Given the description of an element on the screen output the (x, y) to click on. 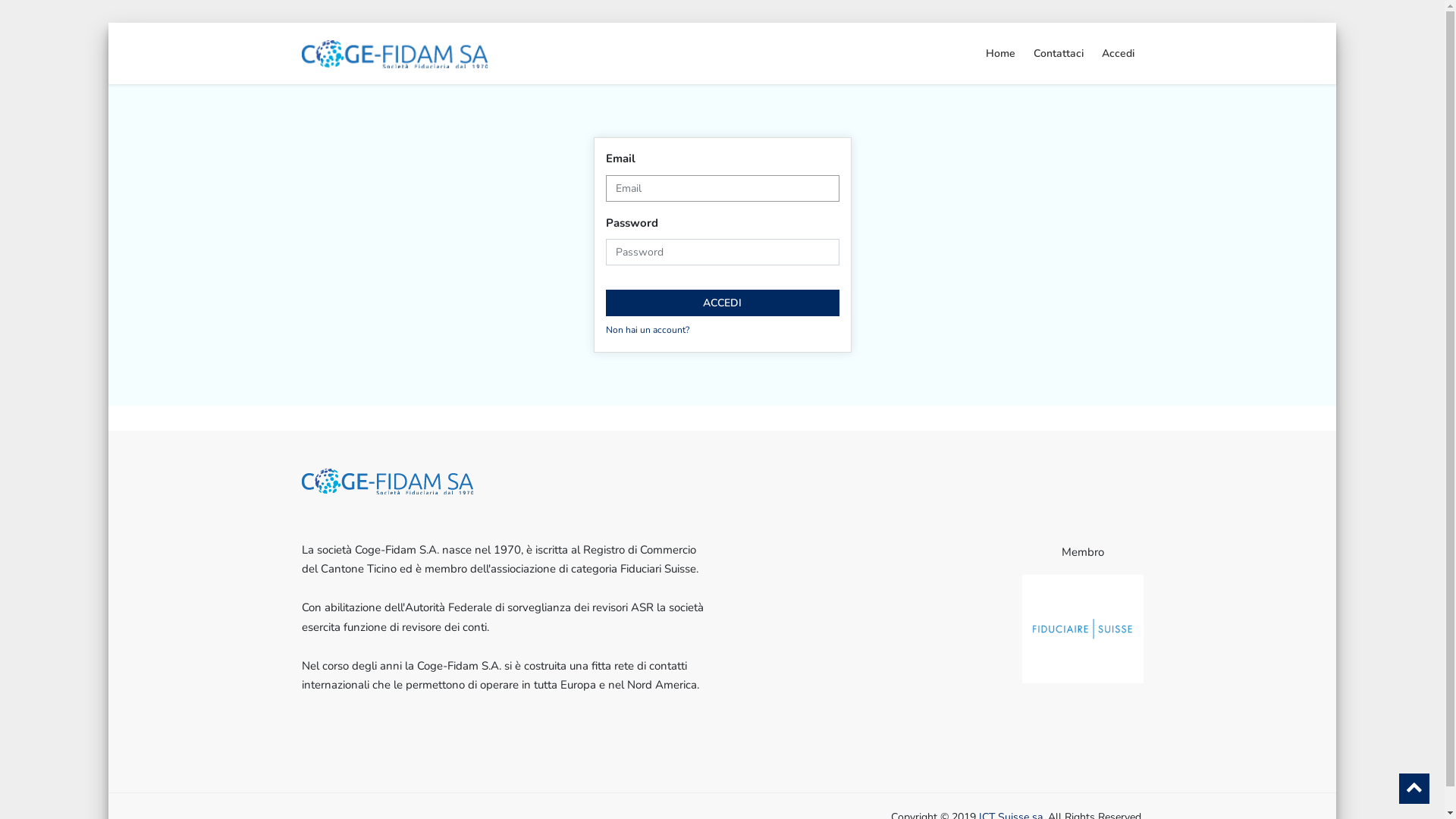
  Element type: text (879, 493)
Accedi Element type: text (1117, 53)
Non hai un account? Element type: text (646, 329)
ACCEDI Element type: text (721, 302)
My Company Element type: hover (394, 52)
Home Element type: text (1000, 53)
Contattaci Element type: text (1057, 53)
